Given the description of an element on the screen output the (x, y) to click on. 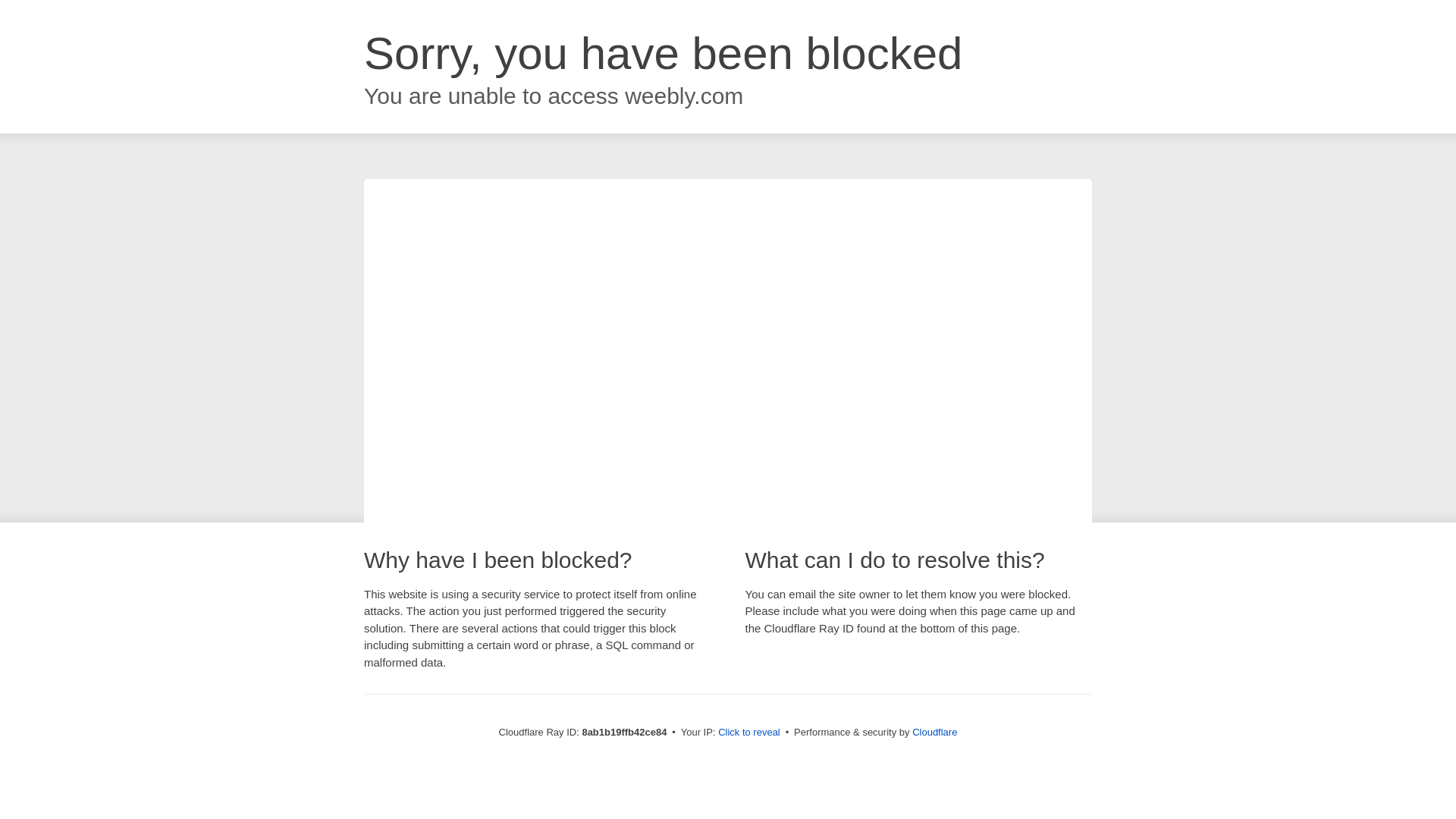
Click to reveal (748, 732)
Cloudflare (934, 731)
